Given the description of an element on the screen output the (x, y) to click on. 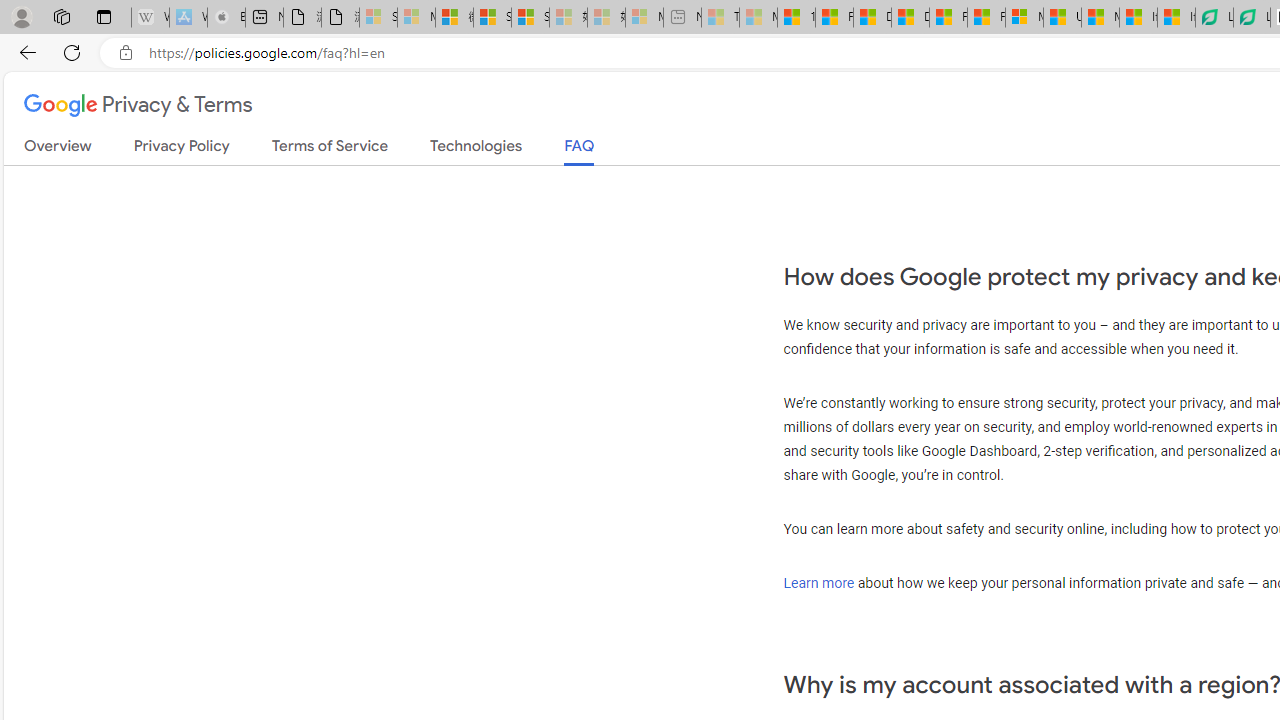
Technologies (476, 150)
Privacy & Terms (138, 106)
Sign in to your Microsoft account - Sleeping (377, 17)
Learn more (819, 582)
Drinking tea every day is proven to delay biological aging (910, 17)
Overview (58, 150)
Microsoft Services Agreement - Sleeping (416, 17)
Foo BAR | Trusted Community Engagement and Contributions (985, 17)
